Given the description of an element on the screen output the (x, y) to click on. 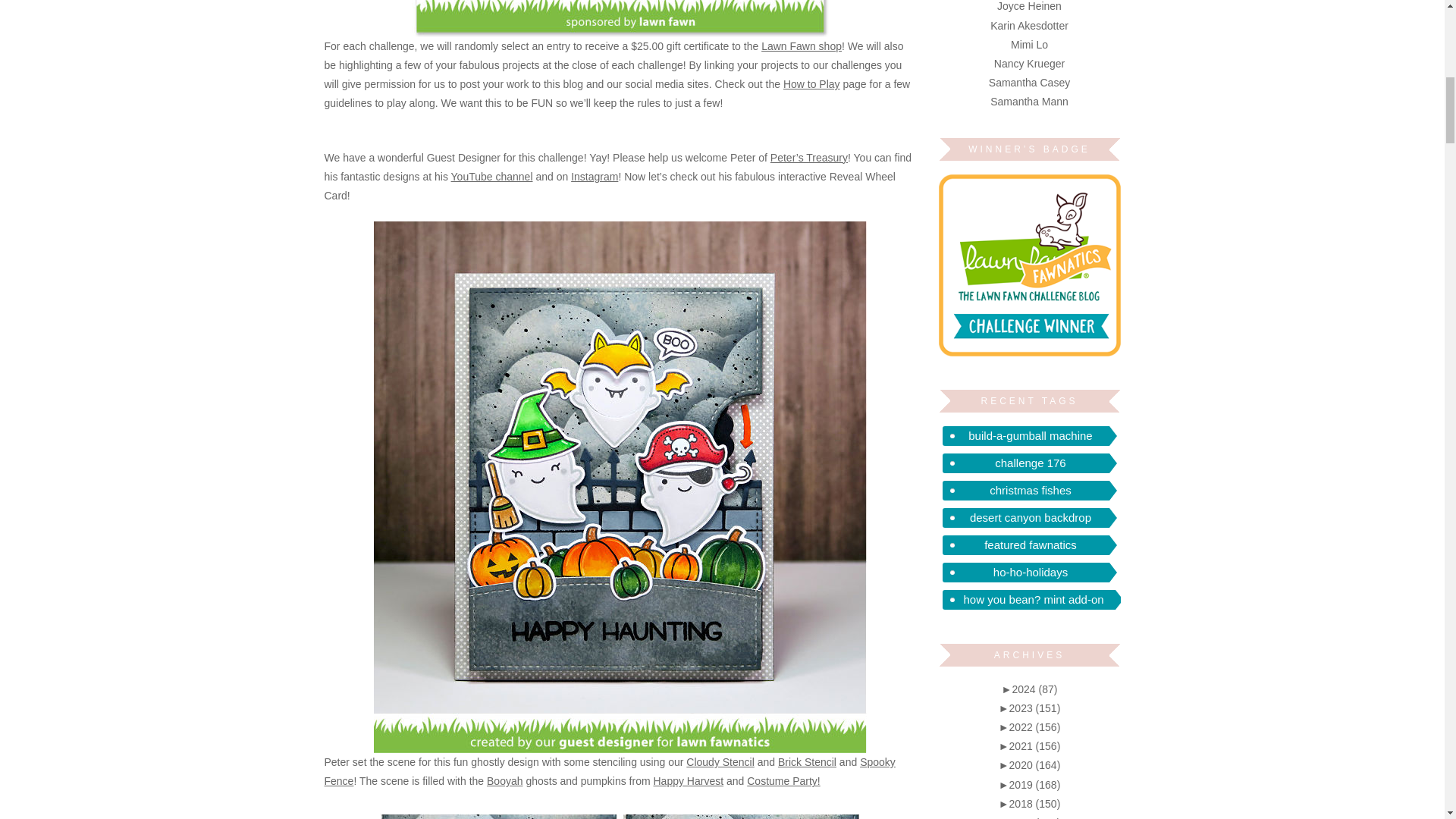
Cloudy Stencil (719, 761)
YouTube channel (491, 176)
Instagram (593, 176)
Booyah (504, 780)
Costume Party! (782, 780)
Lawn Fawn shop (801, 46)
click to expand (1029, 689)
Happy Harvest (688, 780)
Brick Stencil (806, 761)
Spooky Fence (609, 771)
